Given the description of an element on the screen output the (x, y) to click on. 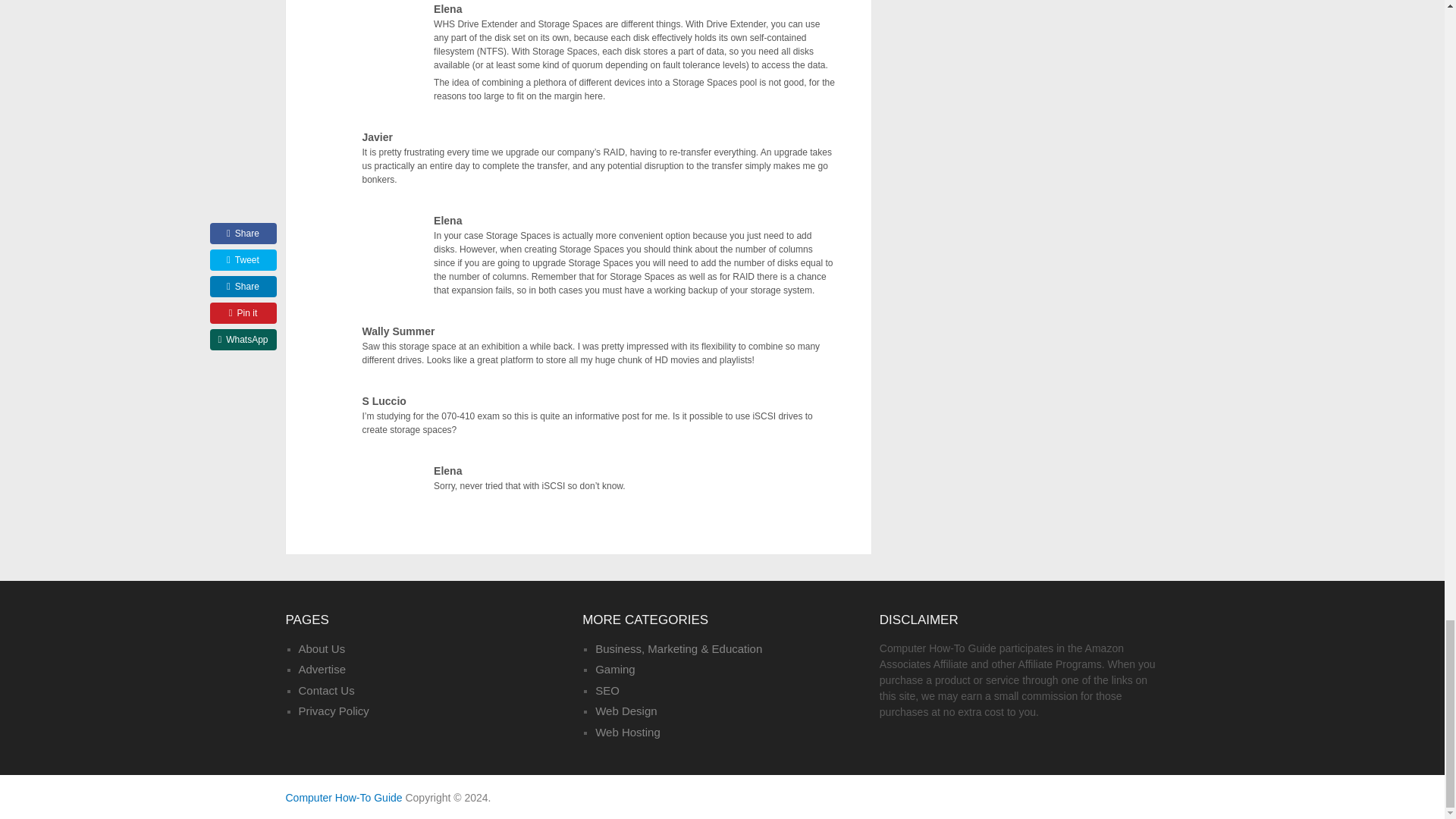
your 1-stop computers and technology blog (343, 797)
